Given the description of an element on the screen output the (x, y) to click on. 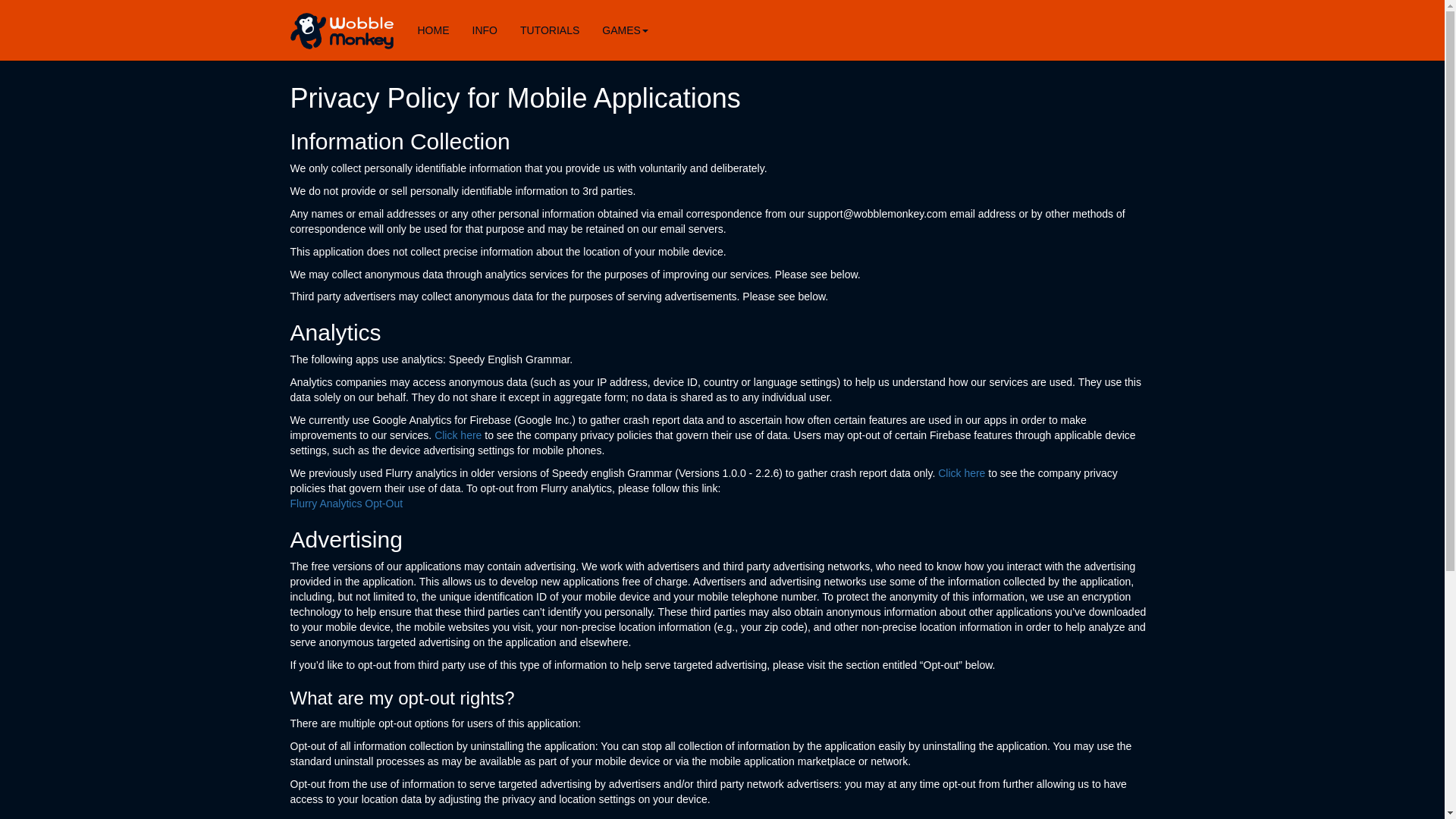
INFO (484, 30)
Flurry Analytics Opt-Out (346, 503)
Click here (457, 435)
HOME (433, 30)
GAMES (625, 30)
Click here (961, 472)
TUTORIALS (549, 30)
